Given the description of an element on the screen output the (x, y) to click on. 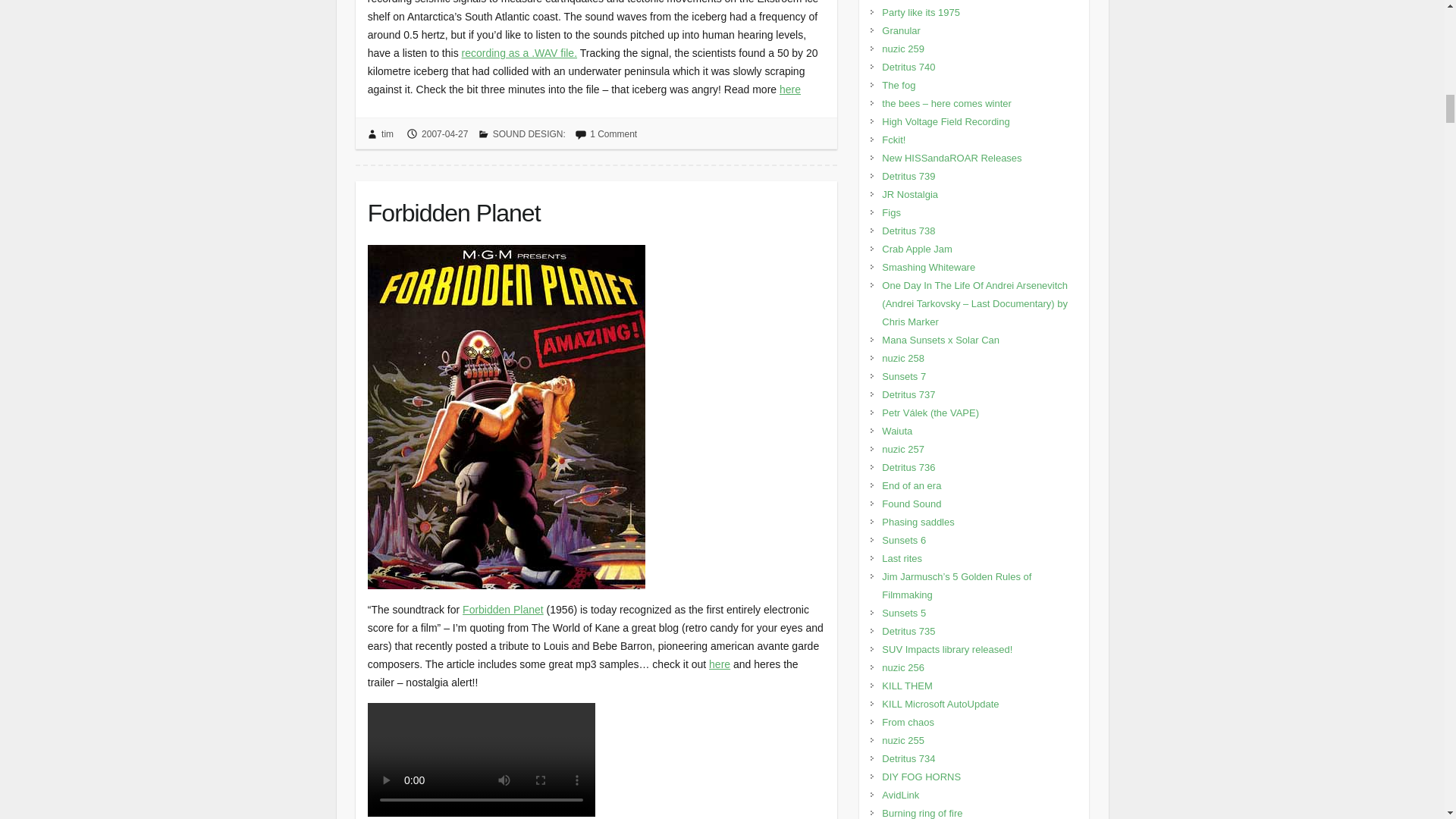
Forbidden Planet (596, 209)
